Given the description of an element on the screen output the (x, y) to click on. 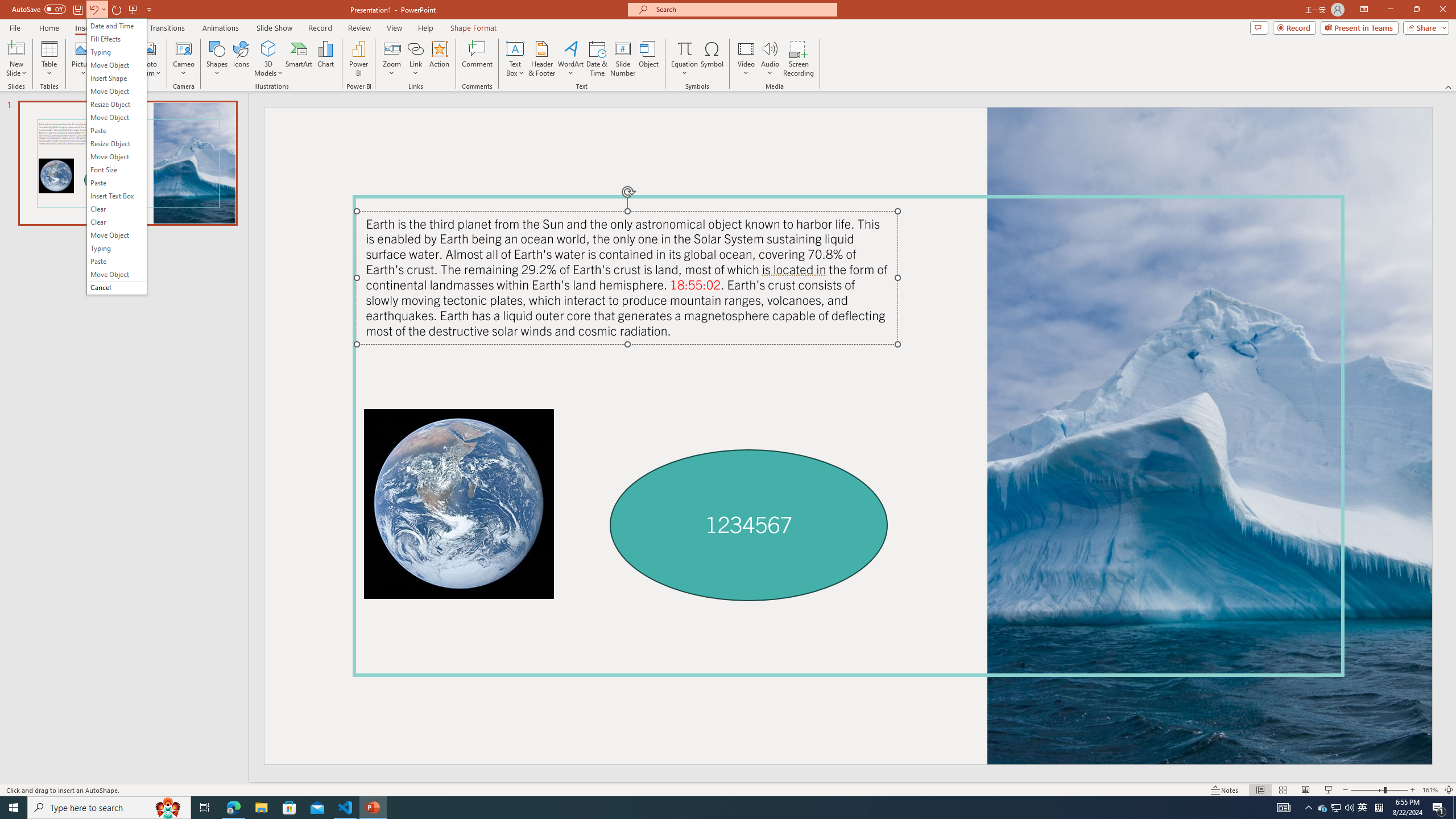
Type here to search (108, 807)
Date & Time... (596, 58)
New Slide (16, 48)
Ribbon Display Options (1364, 9)
Save (77, 9)
Cameo (183, 58)
Review (359, 28)
Search highlights icon opens search home window (167, 807)
File Explorer (261, 807)
From Beginning (133, 9)
Action (439, 58)
Header & Footer... (541, 58)
Action Center, 1 new notification (1439, 807)
